Given the description of an element on the screen output the (x, y) to click on. 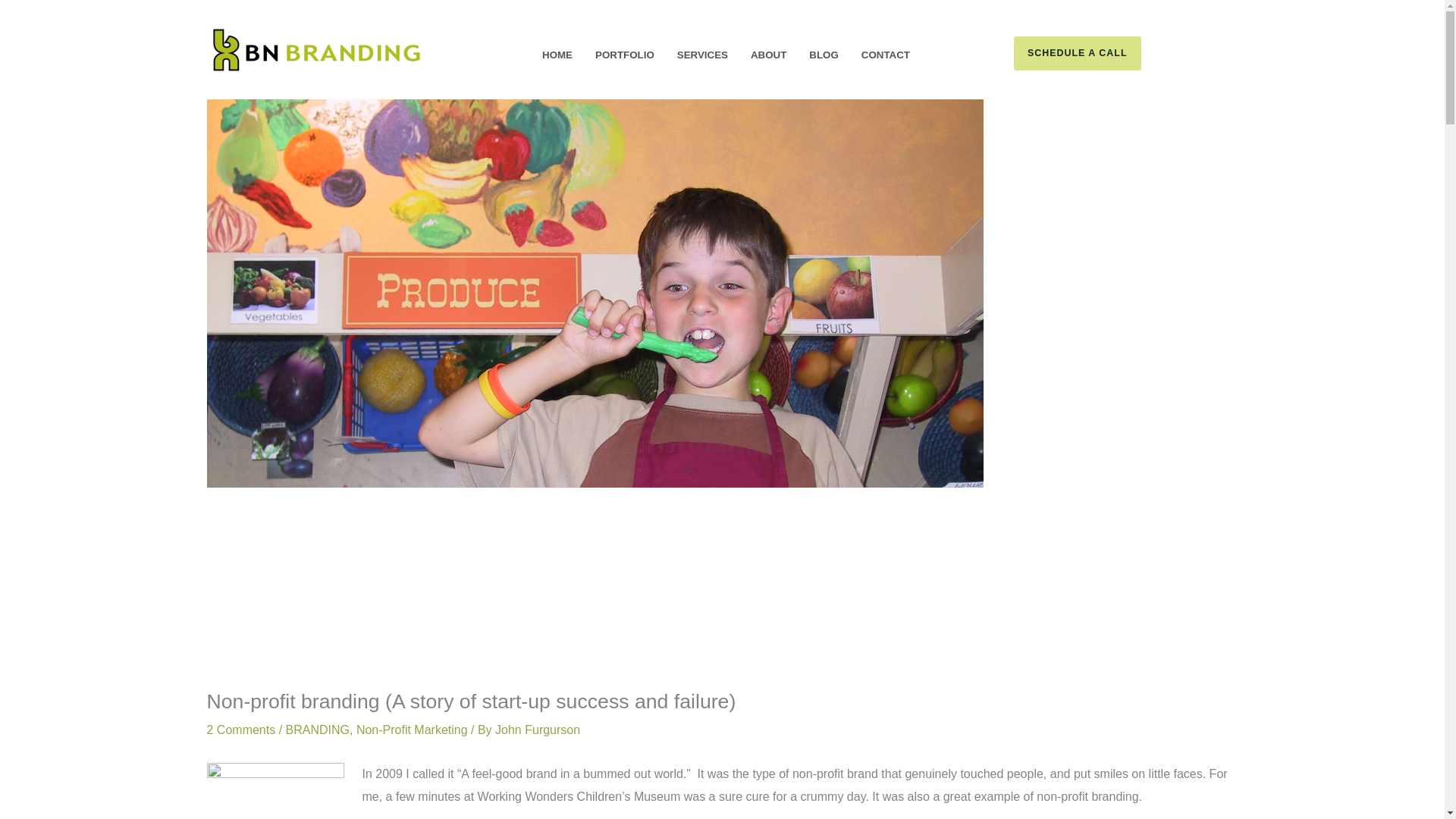
SCHEDULE A CALL (1124, 53)
John Furgurson (537, 729)
BRANDING (317, 729)
Non-Profit Marketing (411, 729)
2 Comments (240, 729)
View all posts by John Furgurson (537, 729)
